Given the description of an element on the screen output the (x, y) to click on. 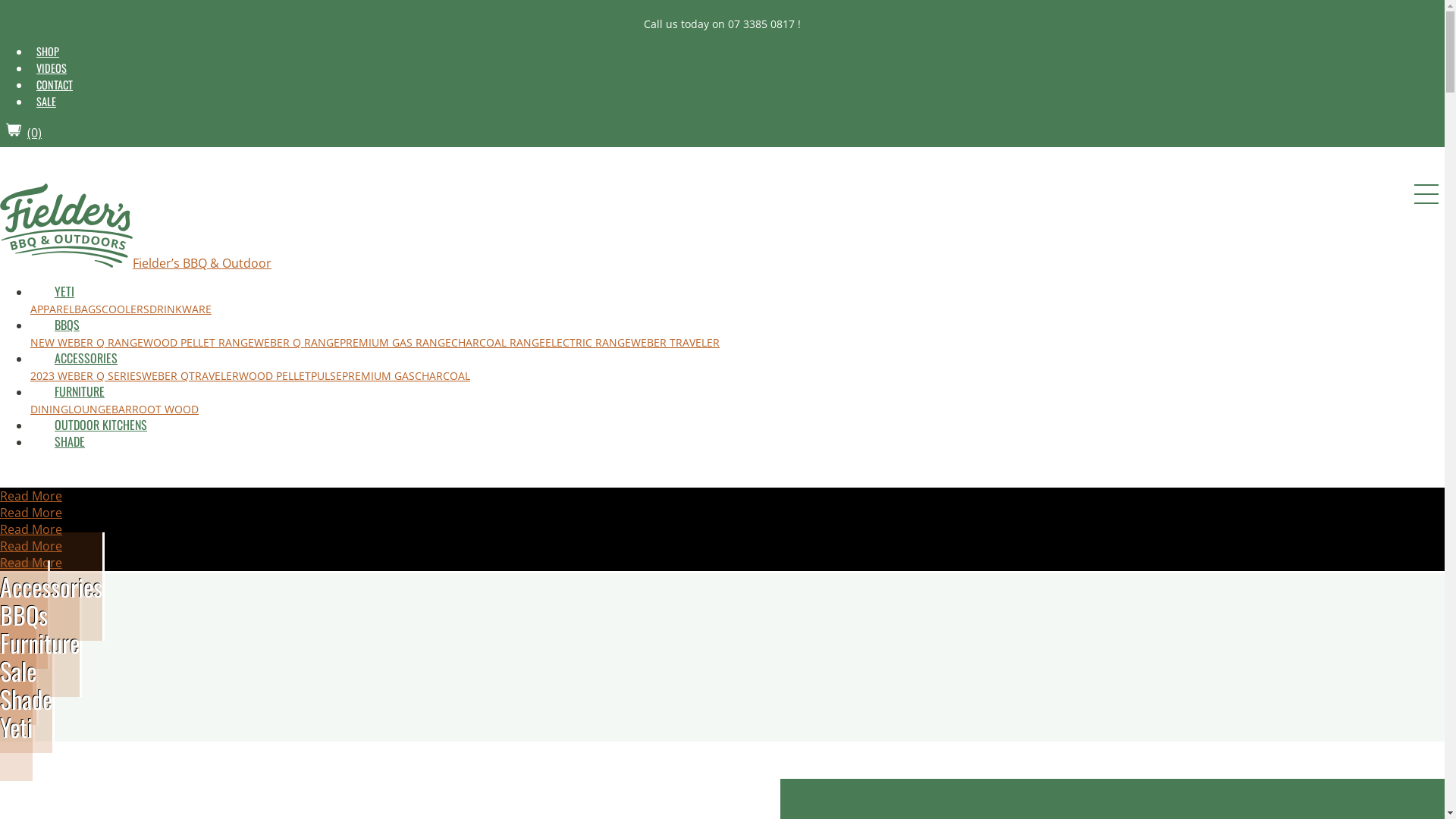
Furniture Element type: text (40, 642)
SHADE Element type: text (69, 441)
YETI Element type: text (64, 290)
Yeti Element type: text (17, 726)
Read More Element type: text (31, 545)
SALE Element type: text (46, 101)
Shade Element type: text (27, 698)
CHARCOAL Element type: text (442, 375)
DINING Element type: text (49, 408)
WEBER TRAVELER Element type: text (674, 342)
PREMIUM GAS RANGE Element type: text (395, 342)
FURNITURE Element type: text (79, 391)
CHARCOAL RANGE Element type: text (498, 342)
BBQs Element type: text (25, 614)
Read More Element type: text (31, 512)
OUTDOOR KITCHENS Element type: text (100, 424)
Read More Element type: text (31, 495)
CONTACT Element type: text (54, 84)
(0) Element type: text (17, 472)
VIDEOS Element type: text (51, 67)
BAR Element type: text (121, 408)
Read More Element type: text (31, 562)
PREMIUM GAS Element type: text (378, 375)
WEBER Q Element type: text (164, 375)
(0) Element type: text (23, 132)
ACCESSORIES Element type: text (85, 357)
Accessories Element type: text (52, 586)
TRAVELER Element type: text (213, 375)
PULSE Element type: text (326, 375)
07 3385 0817 ! Element type: text (764, 23)
BAGS Element type: text (87, 308)
ROOT WOOD Element type: text (164, 408)
WEBER Q RANGE Element type: text (296, 342)
NEW WEBER Q RANGE Element type: text (86, 342)
SHOP Element type: text (47, 51)
BBQS Element type: text (66, 324)
Sale Element type: text (19, 670)
LOUNGE Element type: text (89, 408)
APPAREL Element type: text (52, 308)
WOOD PELLET RANGE Element type: text (198, 342)
ELECTRIC RANGE Element type: text (587, 342)
DRINKWARE Element type: text (180, 308)
Read More Element type: text (31, 528)
2023 WEBER Q SERIES Element type: text (85, 375)
WOOD PELLET Element type: text (274, 375)
COOLERS Element type: text (125, 308)
